Given the description of an element on the screen output the (x, y) to click on. 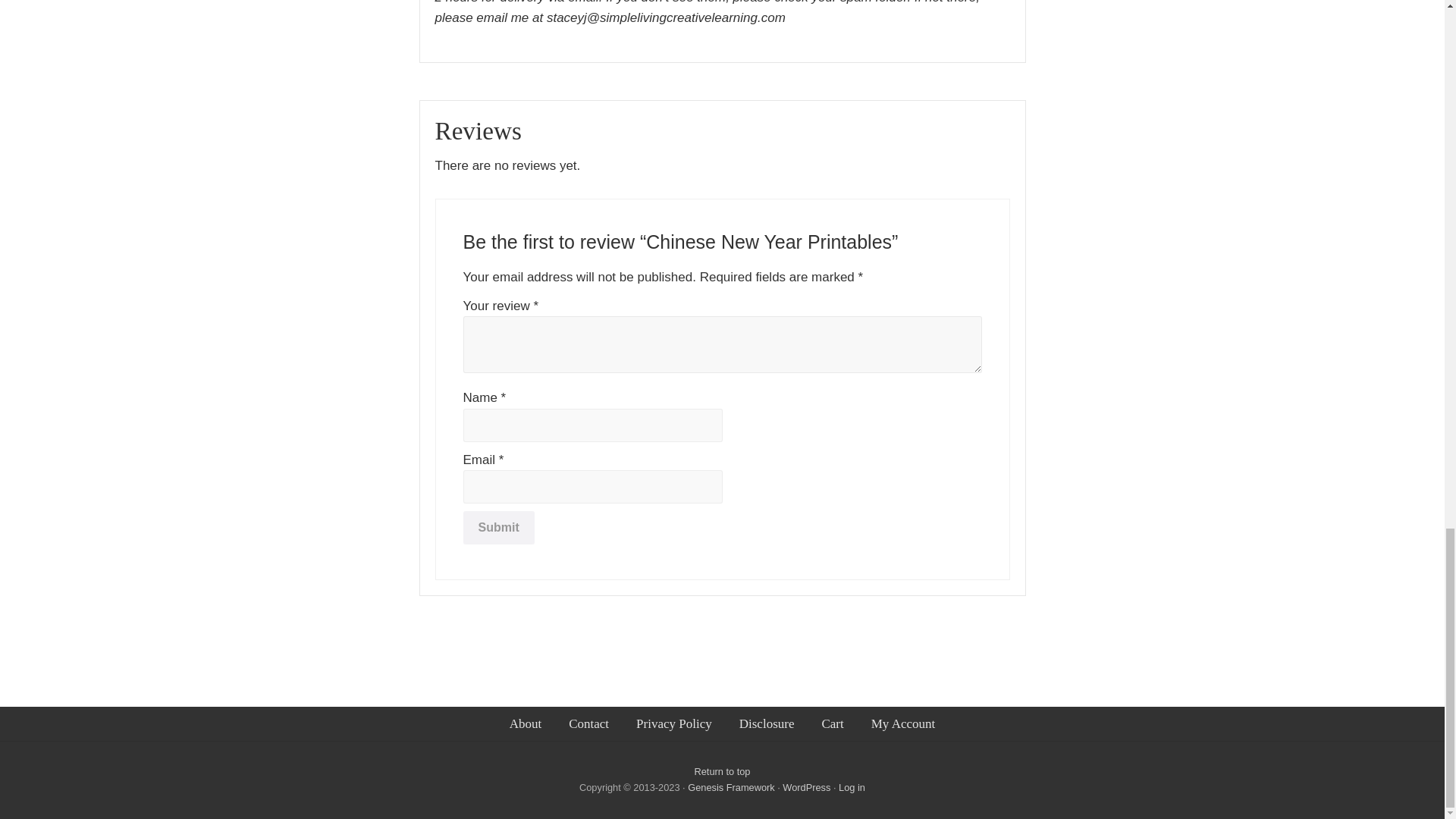
Genesis Framework (732, 787)
Submit (498, 527)
WordPress (806, 787)
